Given the description of an element on the screen output the (x, y) to click on. 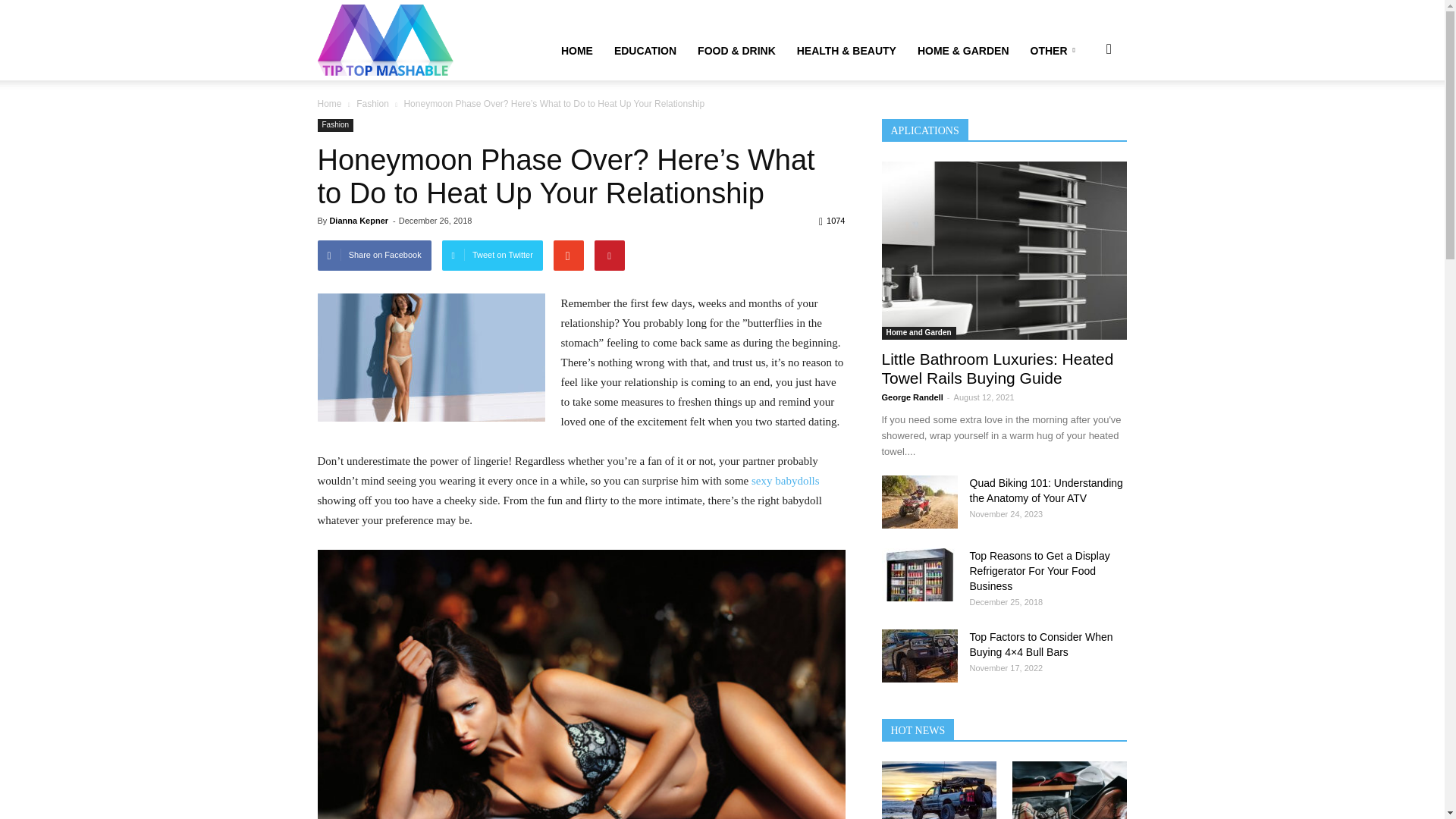
EDUCATION (645, 50)
View all posts in Fashion (372, 103)
Tweet on Twitter (492, 255)
Dianna Kepner (358, 220)
HOME (577, 50)
Fashion (335, 124)
Fashion (372, 103)
Share on Facebook (373, 255)
OTHER (1054, 50)
7 (430, 357)
